Given the description of an element on the screen output the (x, y) to click on. 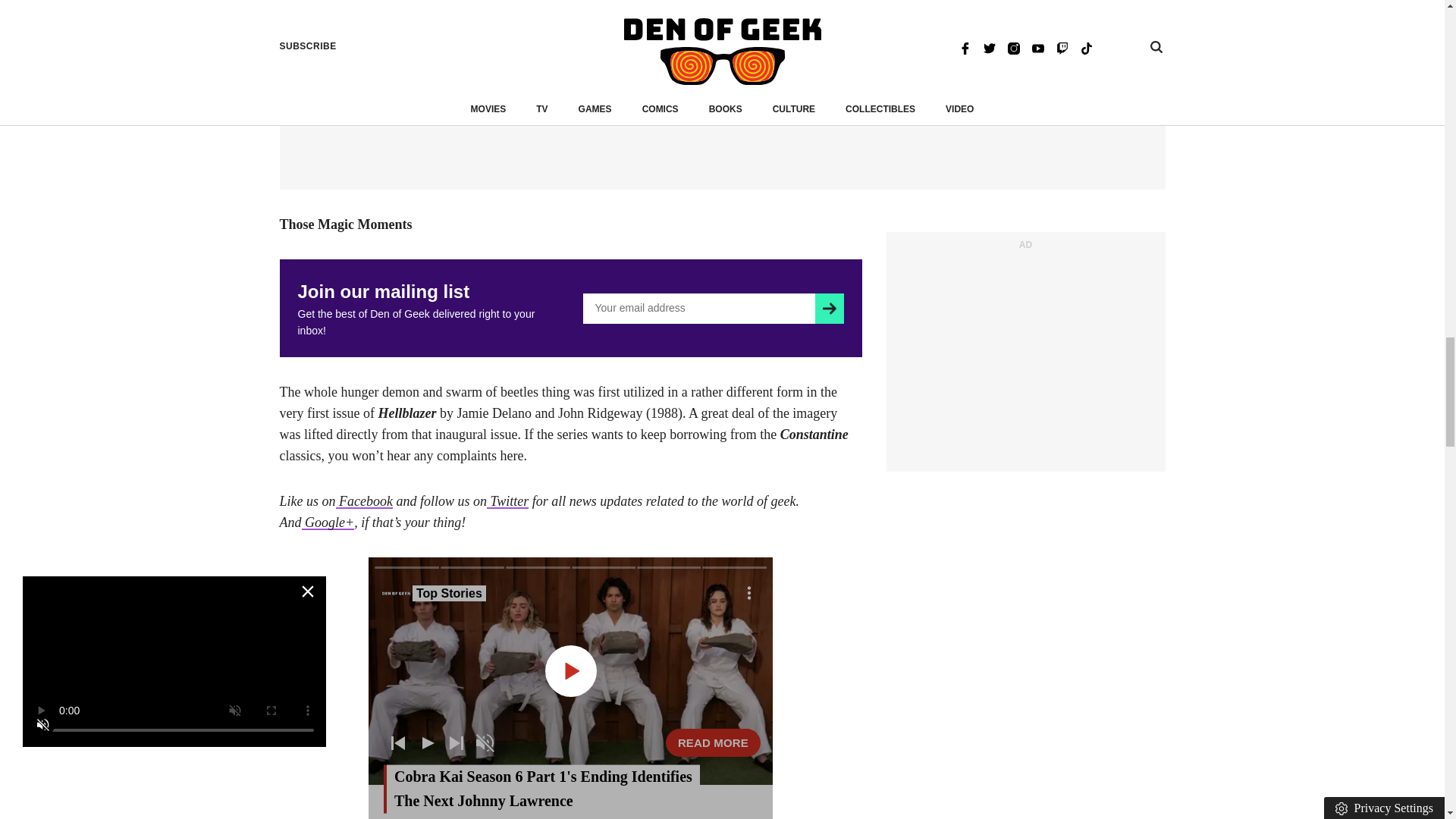
READ MORE (712, 742)
Subscribe (829, 308)
 Facebook (362, 500)
 Twitter (507, 500)
